Given the description of an element on the screen output the (x, y) to click on. 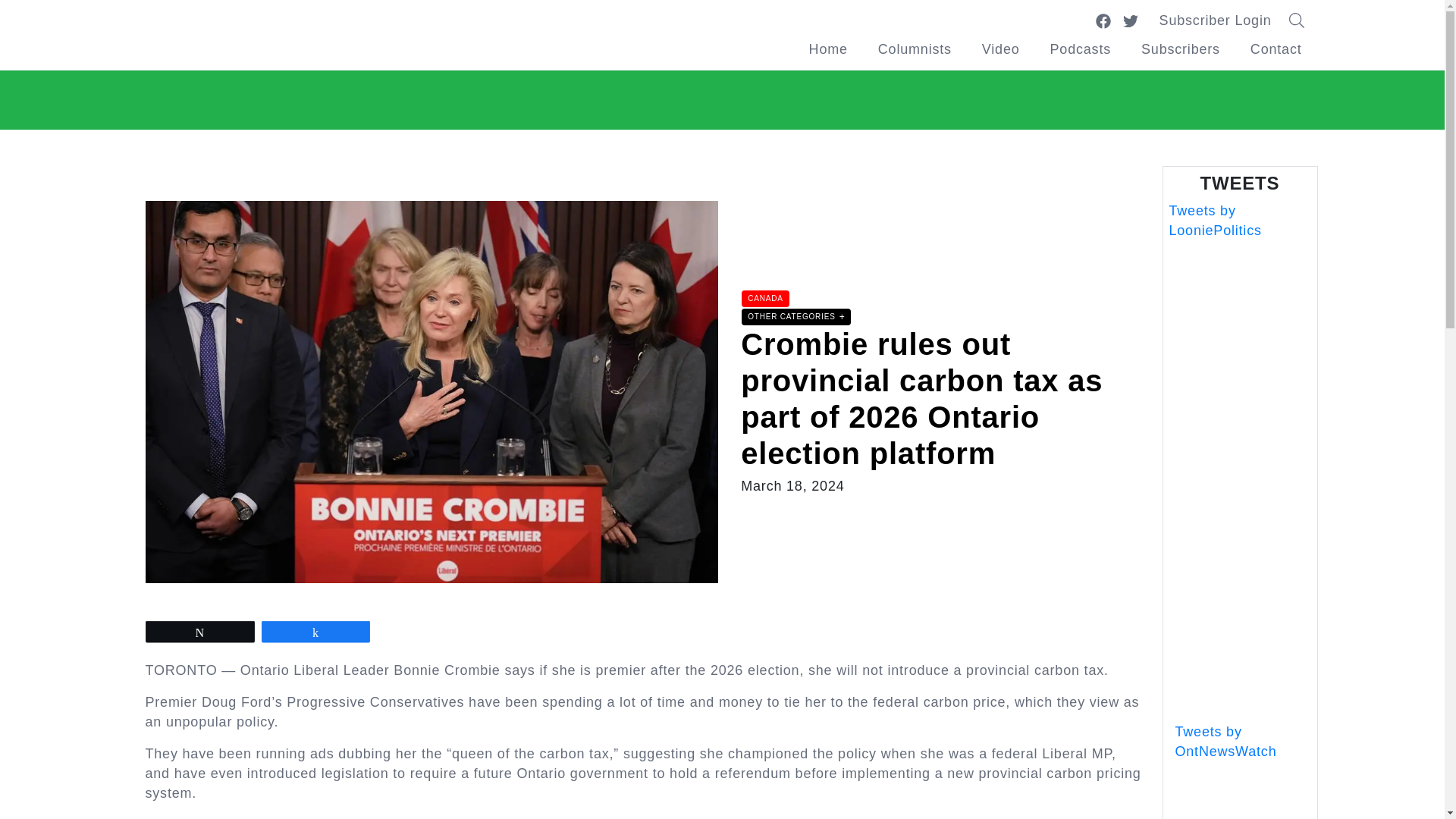
Contact (1275, 49)
Podcasts (1080, 49)
Video (1000, 49)
Home (828, 49)
Tweets by LooniePolitics (1215, 220)
Click to Search (1301, 20)
Tweets by OntNewsWatch (1225, 741)
Columnists (914, 49)
CANADA (765, 298)
Subscriber Login (1215, 20)
